Given the description of an element on the screen output the (x, y) to click on. 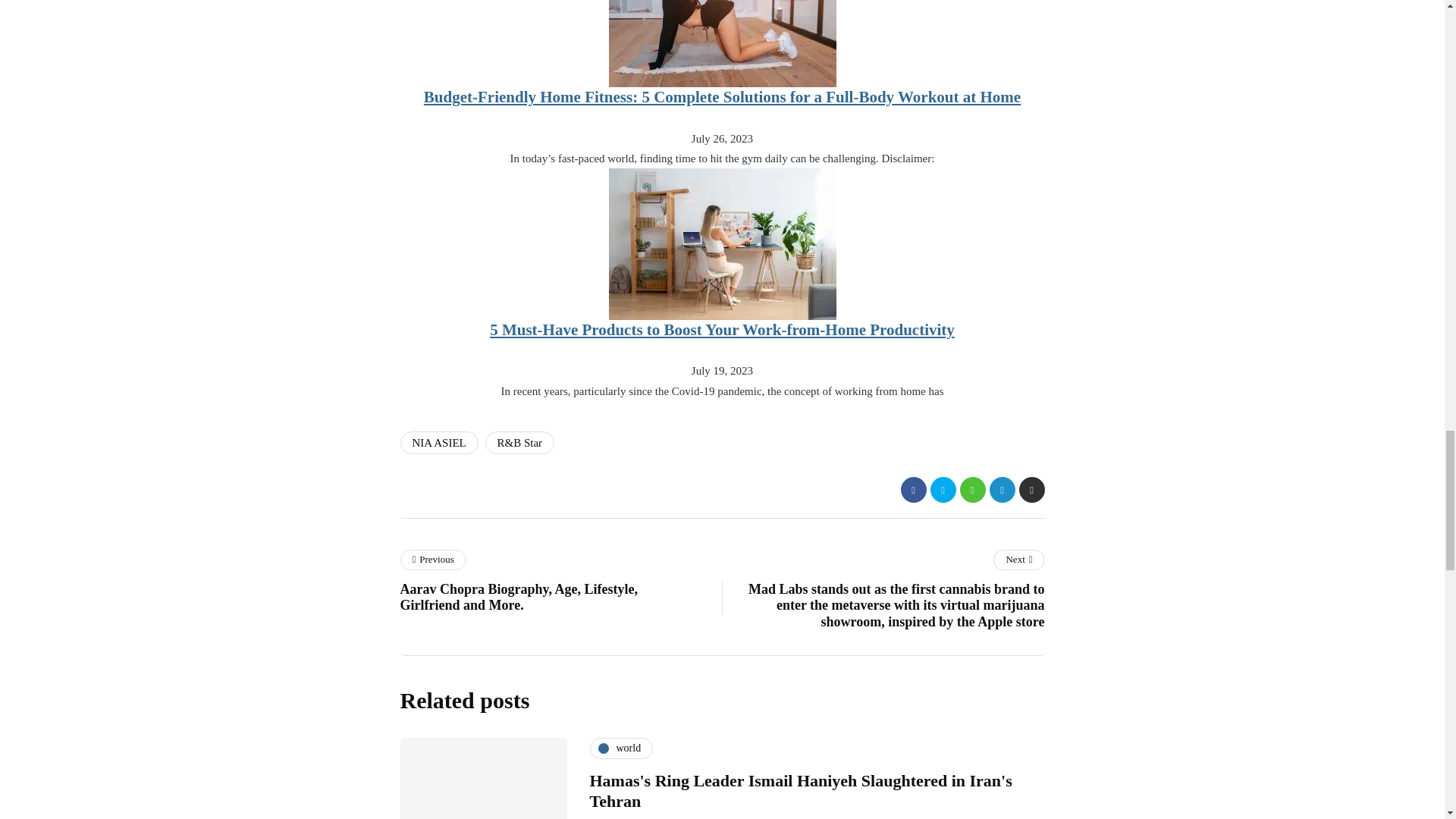
Share with Facebook (913, 489)
Tweet this (942, 489)
